Given the description of an element on the screen output the (x, y) to click on. 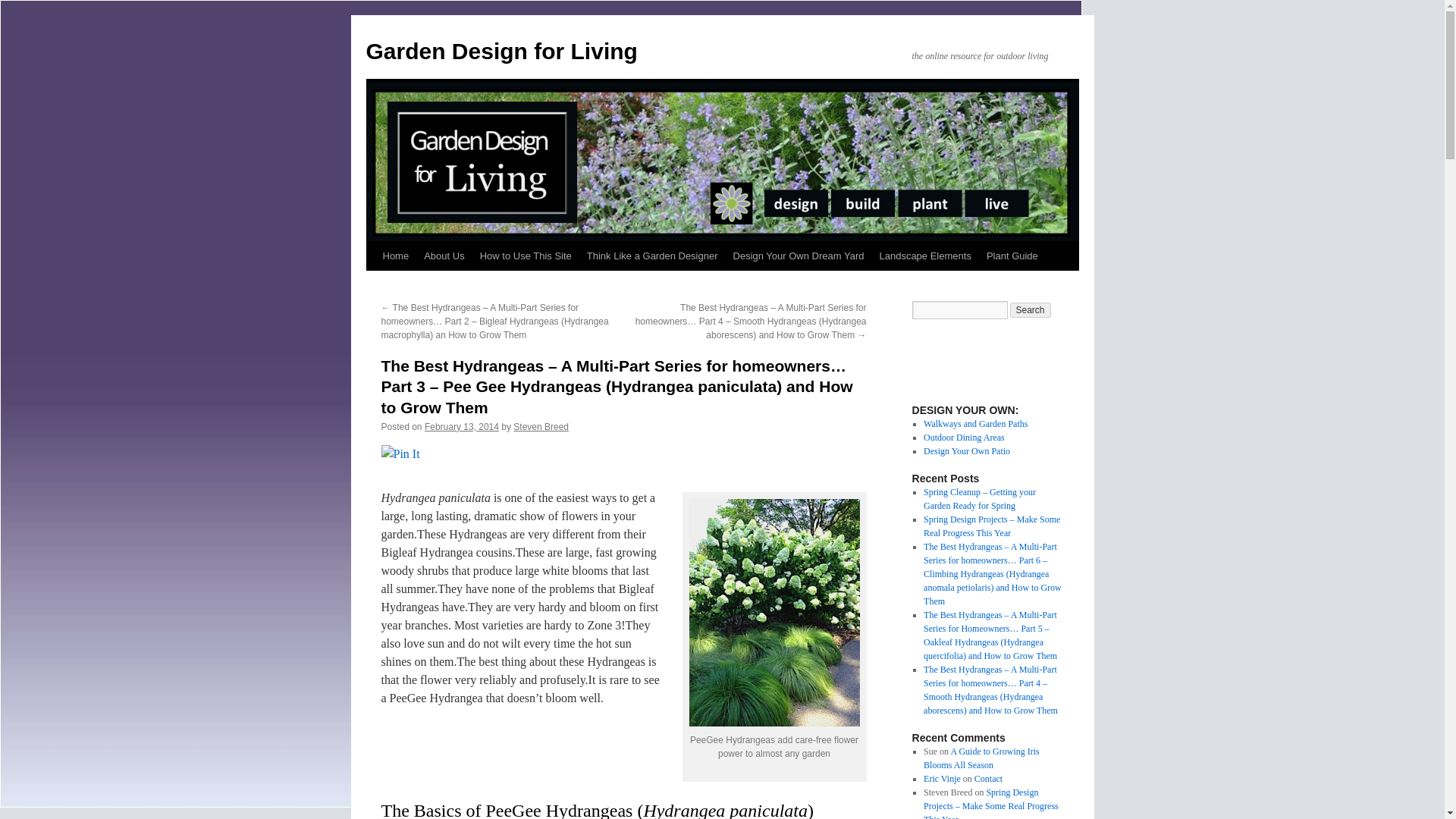
Think Like a Garden Designer (652, 256)
How to Use This Site (525, 256)
View all posts by Steven Breed (541, 426)
Plant Guide (1011, 256)
Steven Breed (541, 426)
Design Your Own Dream Yard (798, 256)
Home (395, 256)
Landscape Elements (924, 256)
8:20 pm (462, 426)
Search (1030, 309)
